Given the description of an element on the screen output the (x, y) to click on. 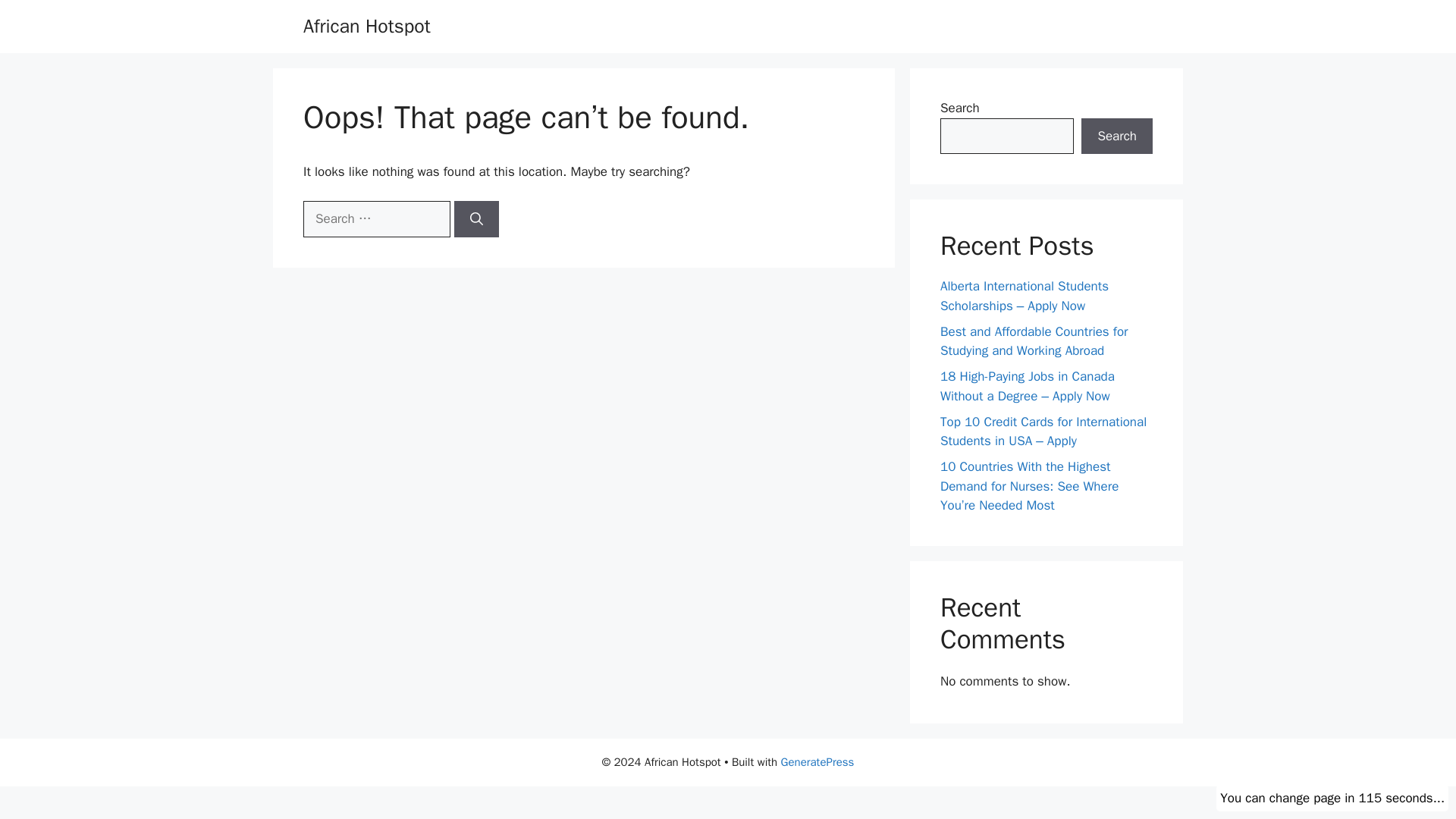
Search (1117, 135)
GeneratePress (817, 762)
Search for: (375, 218)
African Hotspot (366, 25)
